Given the description of an element on the screen output the (x, y) to click on. 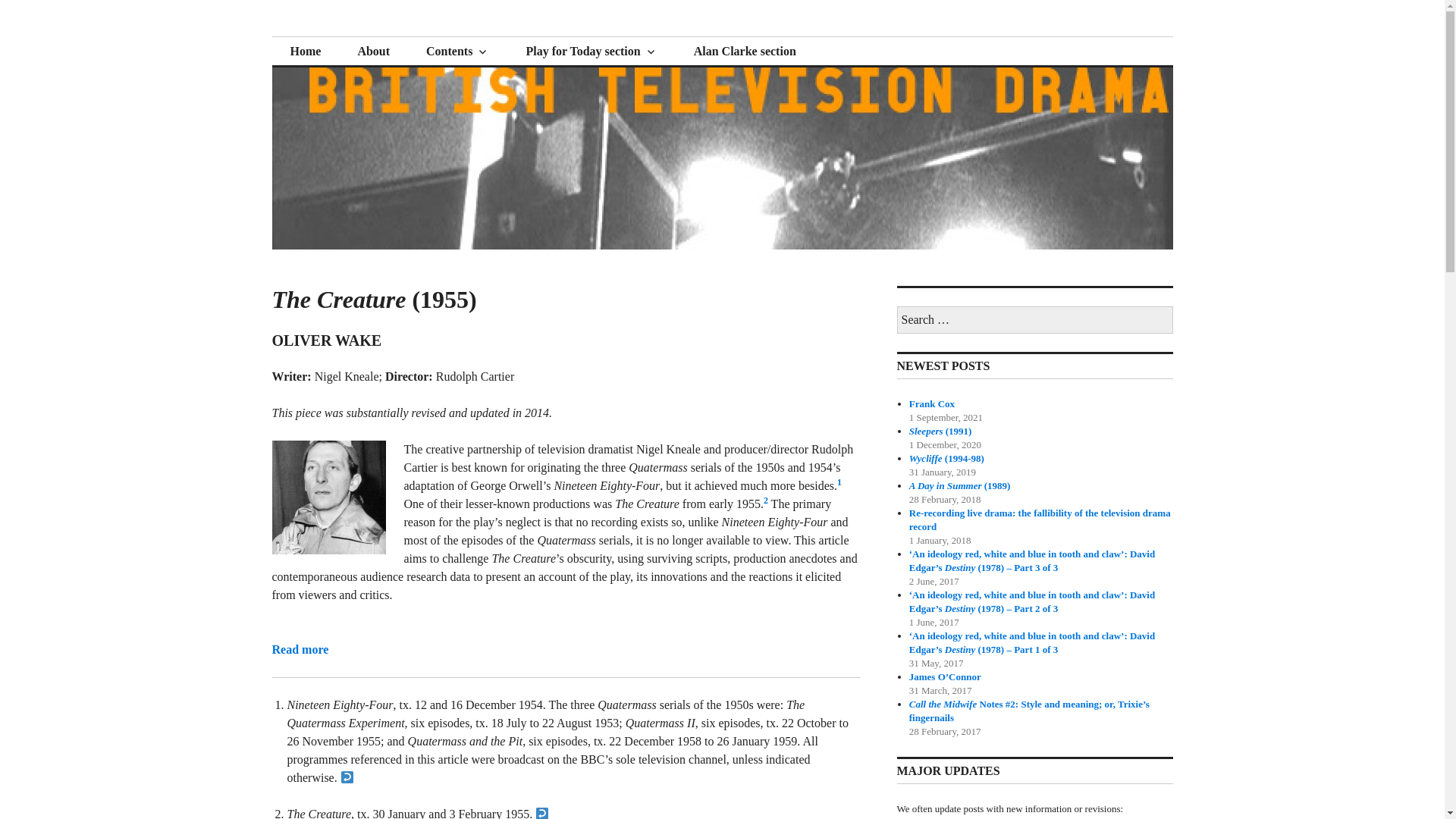
Read more (299, 649)
Return to footnote 2. (541, 813)
Play for Today section (590, 51)
Alan Clarke section (744, 51)
Home (304, 51)
About (373, 51)
Return to footnote 1. (346, 777)
Contents (456, 51)
